Given the description of an element on the screen output the (x, y) to click on. 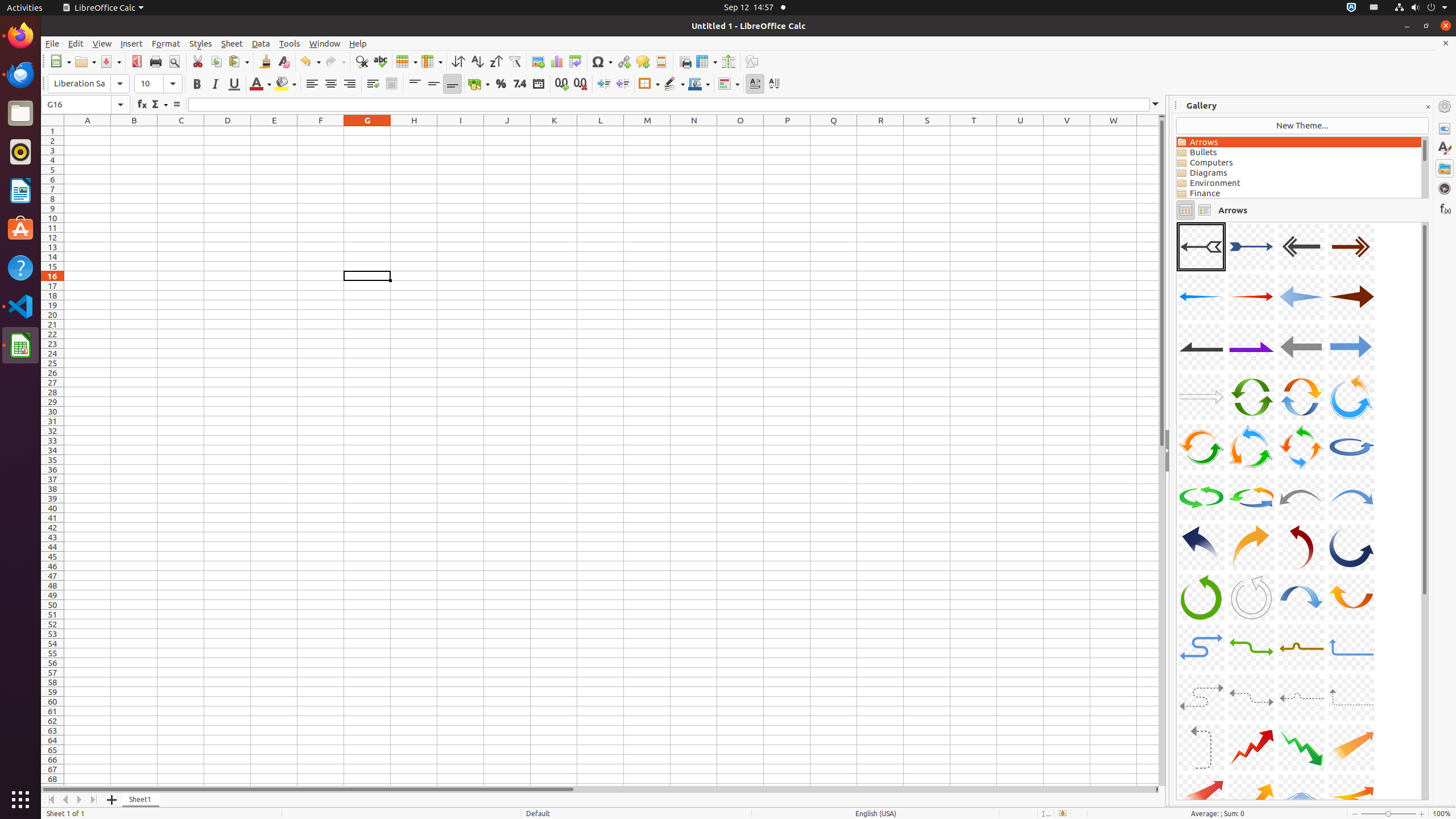
H1 Element type: table-cell (413, 130)
B1 Element type: table-cell (133, 130)
Chart Element type: push-button (556, 61)
PDF Element type: push-button (136, 61)
Open Element type: push-button (84, 61)
